Given the description of an element on the screen output the (x, y) to click on. 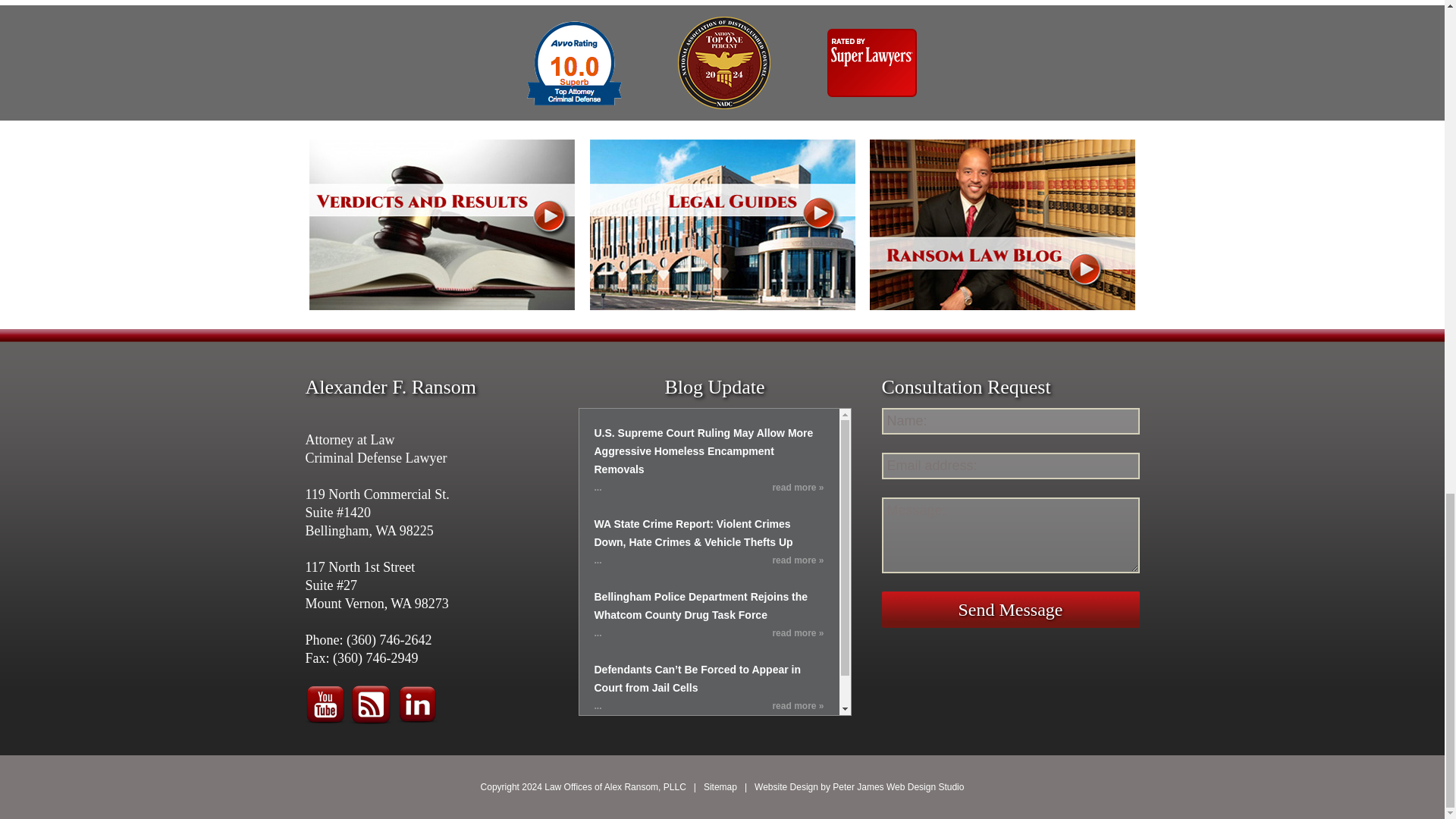
Email address: (1009, 465)
Name: (1009, 420)
Send Message (1009, 609)
